Given the description of an element on the screen output the (x, y) to click on. 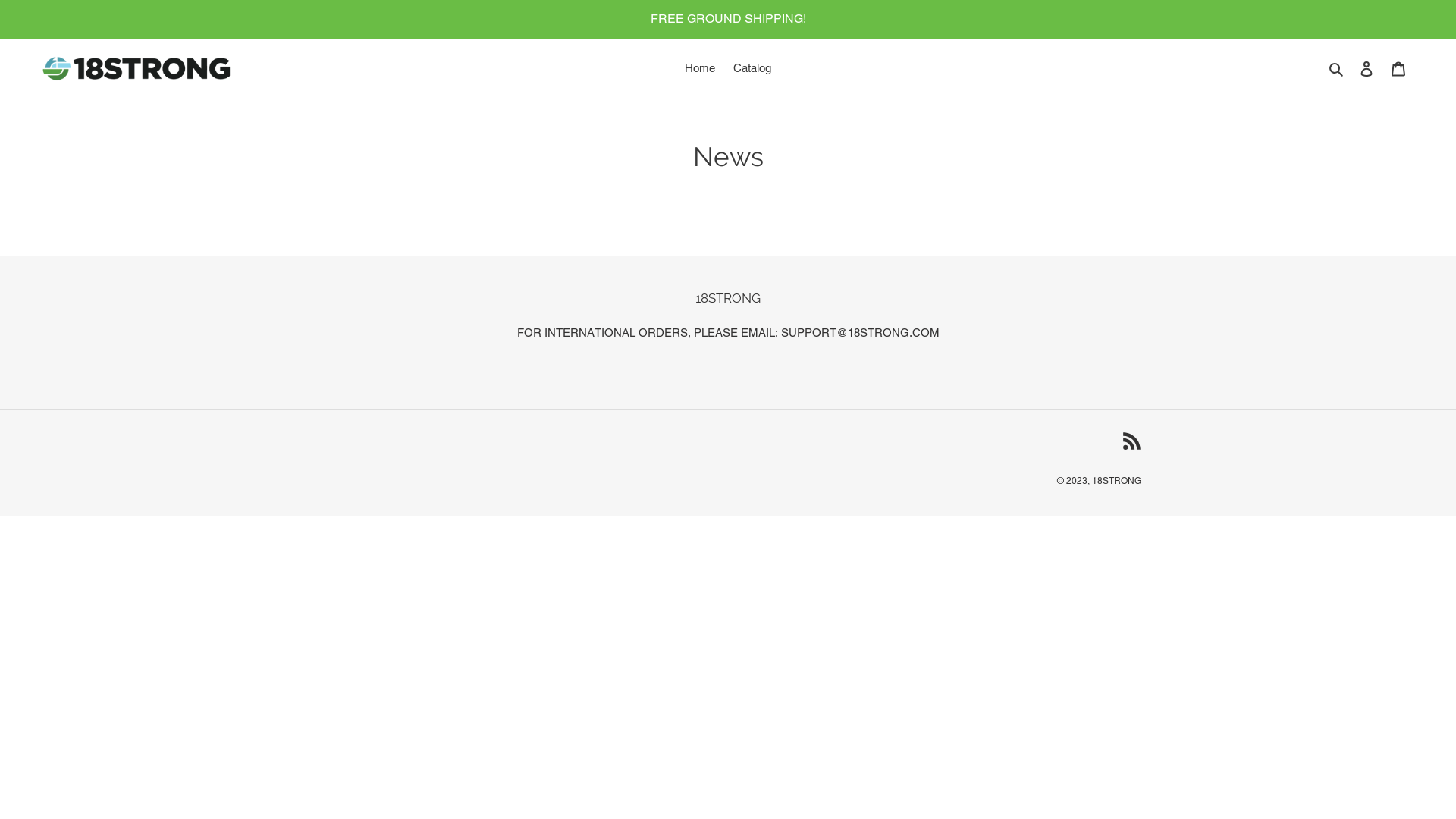
18STRONG Element type: text (1116, 480)
Cart Element type: text (1398, 68)
Log in Element type: text (1366, 68)
RSS Element type: text (1131, 440)
Catalog Element type: text (751, 68)
Search Element type: text (1337, 68)
Home Element type: text (699, 68)
